Given the description of an element on the screen output the (x, y) to click on. 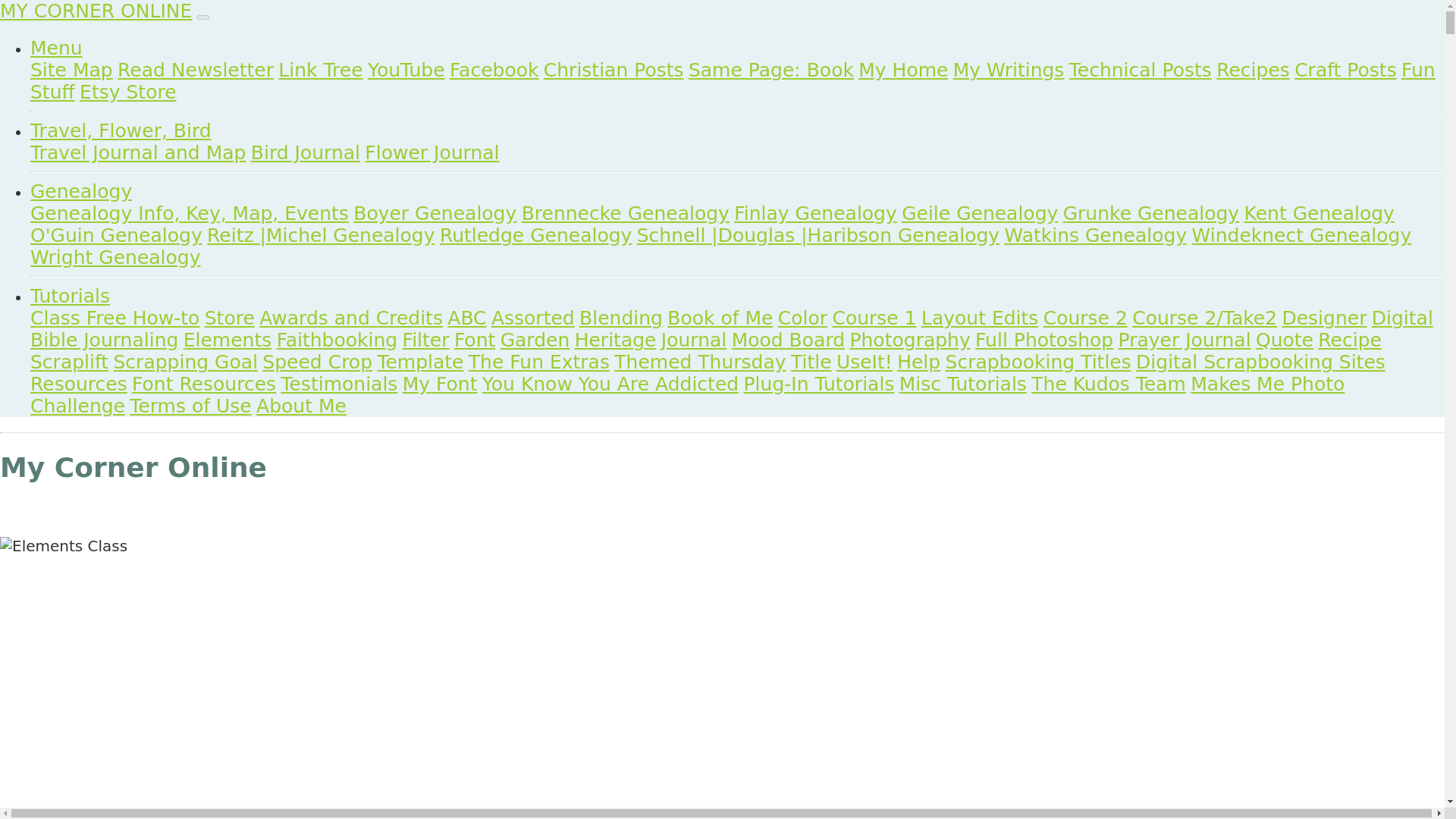
Menu (56, 47)
Tutorials (70, 296)
O'Guin Genealogy (116, 235)
Same Page: Book (770, 69)
Kent Genealogy (1319, 213)
Facebook (493, 69)
Flower Journal (432, 152)
Travel, Flower, Bird (120, 130)
Class Free How-to (114, 318)
Craft Posts (1345, 69)
